Given the description of an element on the screen output the (x, y) to click on. 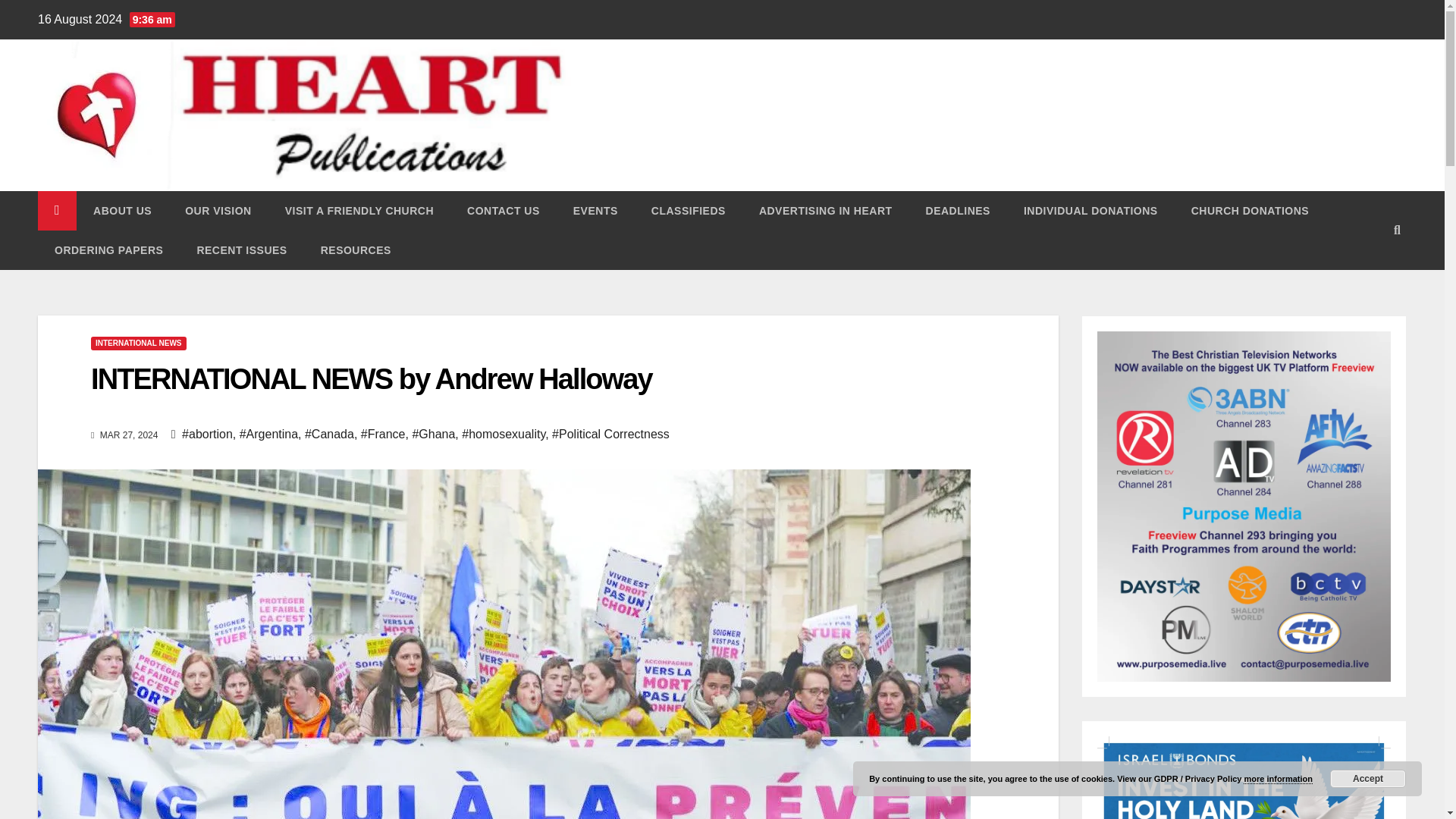
Visit a Friendly Church (358, 210)
Advertising in HEART (825, 210)
EVENTS (595, 210)
Events (595, 210)
VISIT A FRIENDLY CHURCH (358, 210)
Classifieds (688, 210)
Ordering papers (108, 250)
Recent Issues (240, 250)
CONTACT US (502, 210)
Deadlines (957, 210)
